Given the description of an element on the screen output the (x, y) to click on. 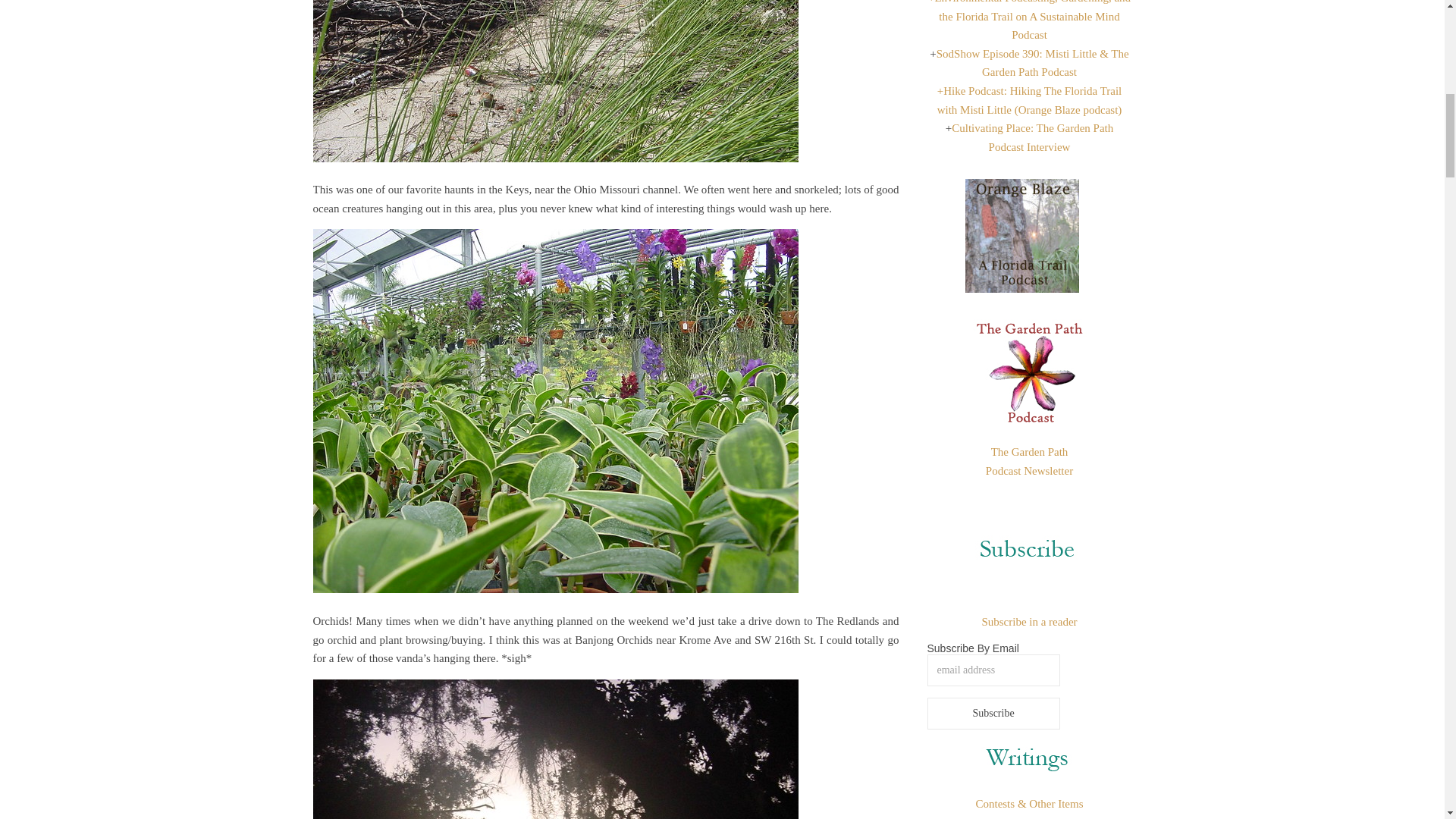
DSC06492 by Oceanic Wilderness, on Flickr (605, 88)
Subscribe (992, 713)
DSC07321 by Oceanic Wilderness, on Flickr (605, 749)
